Given the description of an element on the screen output the (x, y) to click on. 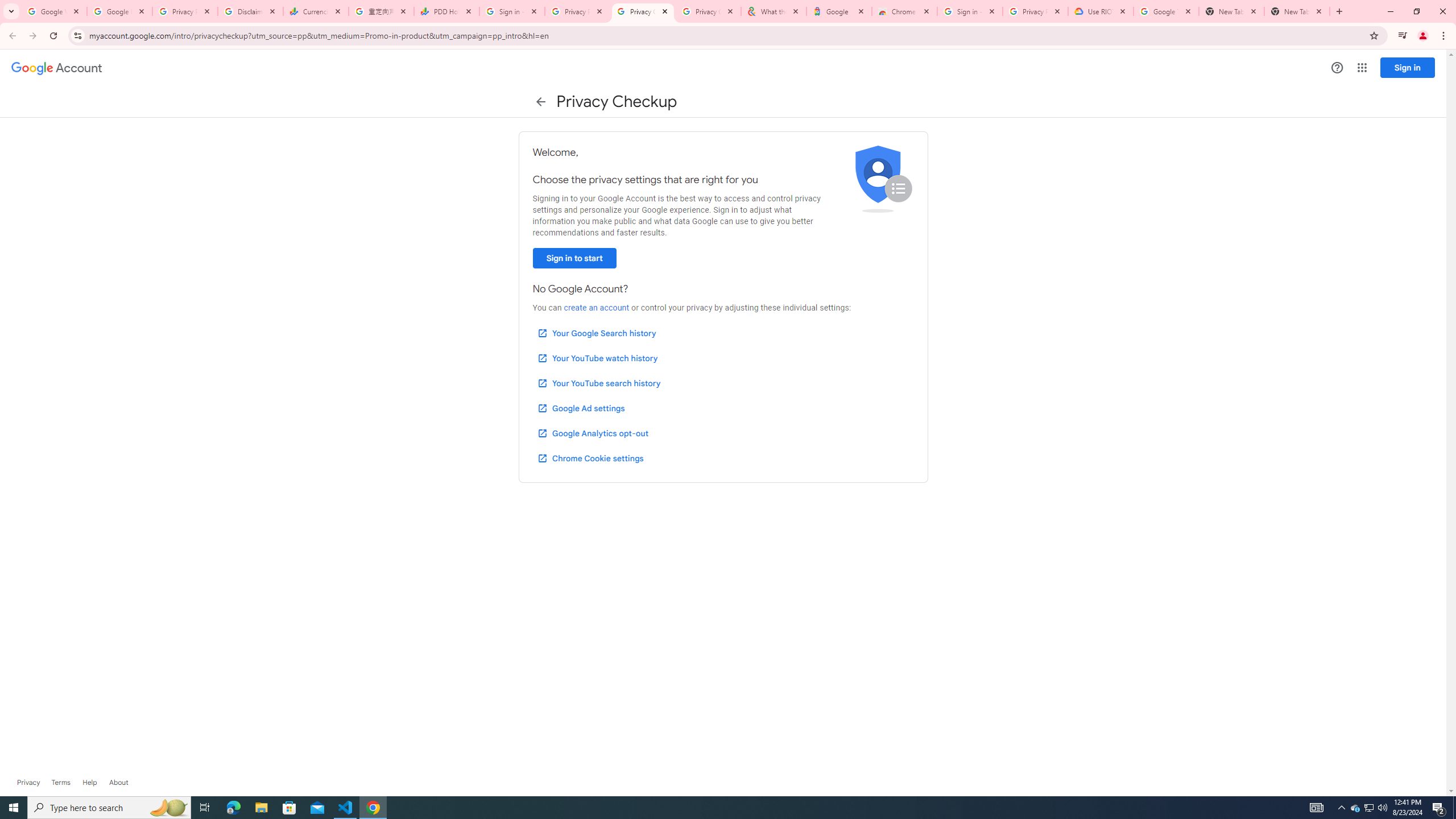
Help (89, 782)
Sign in - Google Accounts (969, 11)
New Tab (1297, 11)
Privacy Checkup (708, 11)
Chrome Web Store - Color themes by Chrome (904, 11)
Google Analytics opt-out (592, 433)
